Given the description of an element on the screen output the (x, y) to click on. 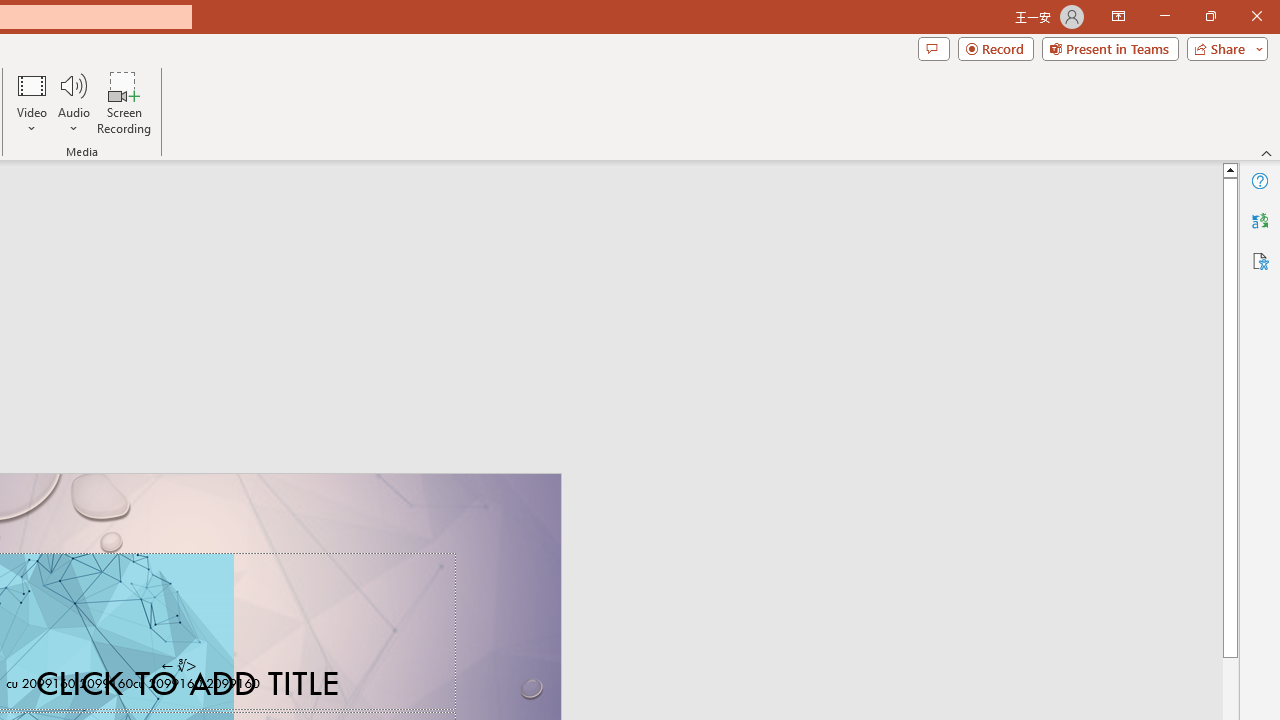
Video (31, 102)
TextBox 7 (178, 666)
